Given the description of an element on the screen output the (x, y) to click on. 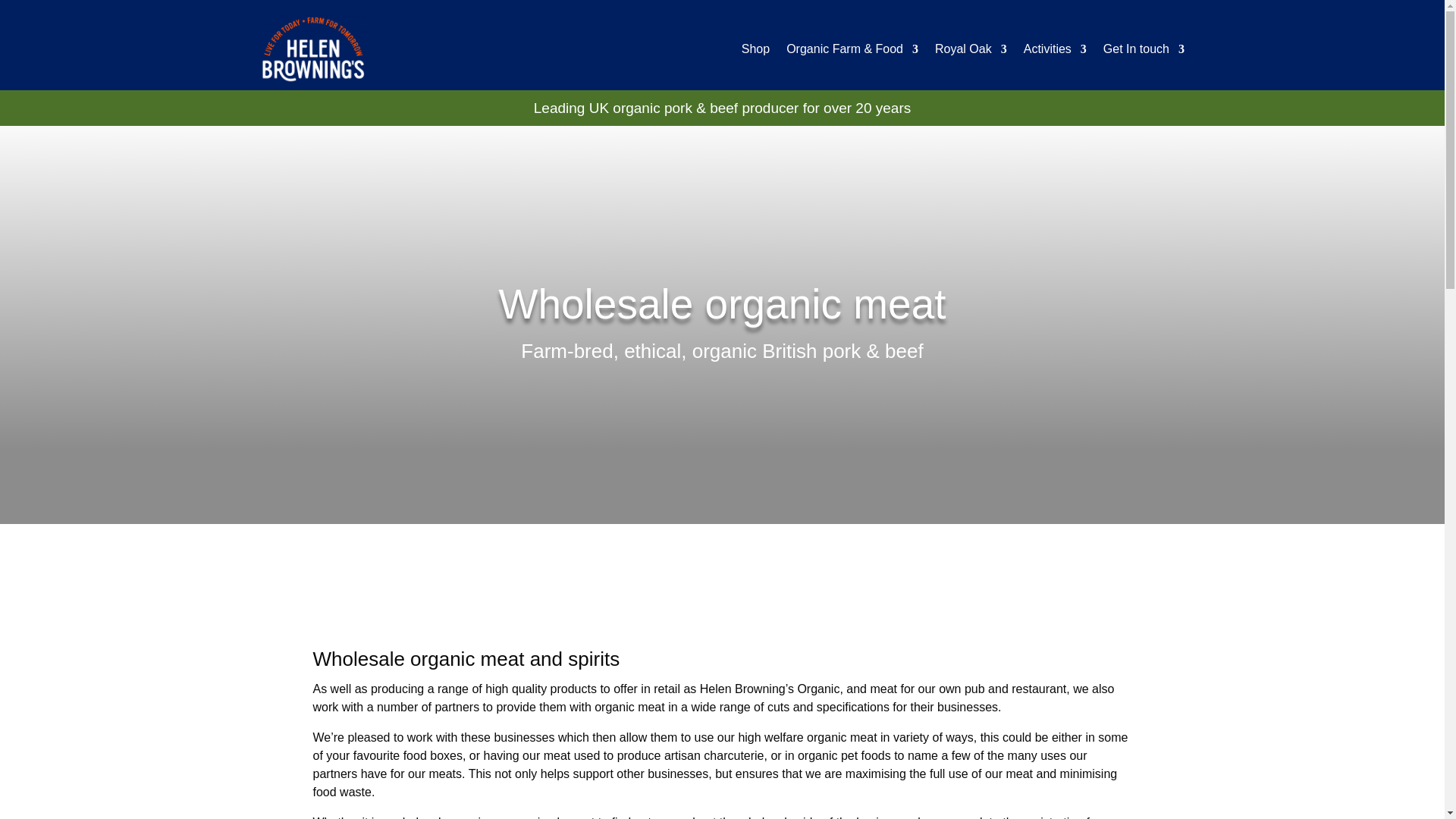
Royal Oak (970, 49)
